Given the description of an element on the screen output the (x, y) to click on. 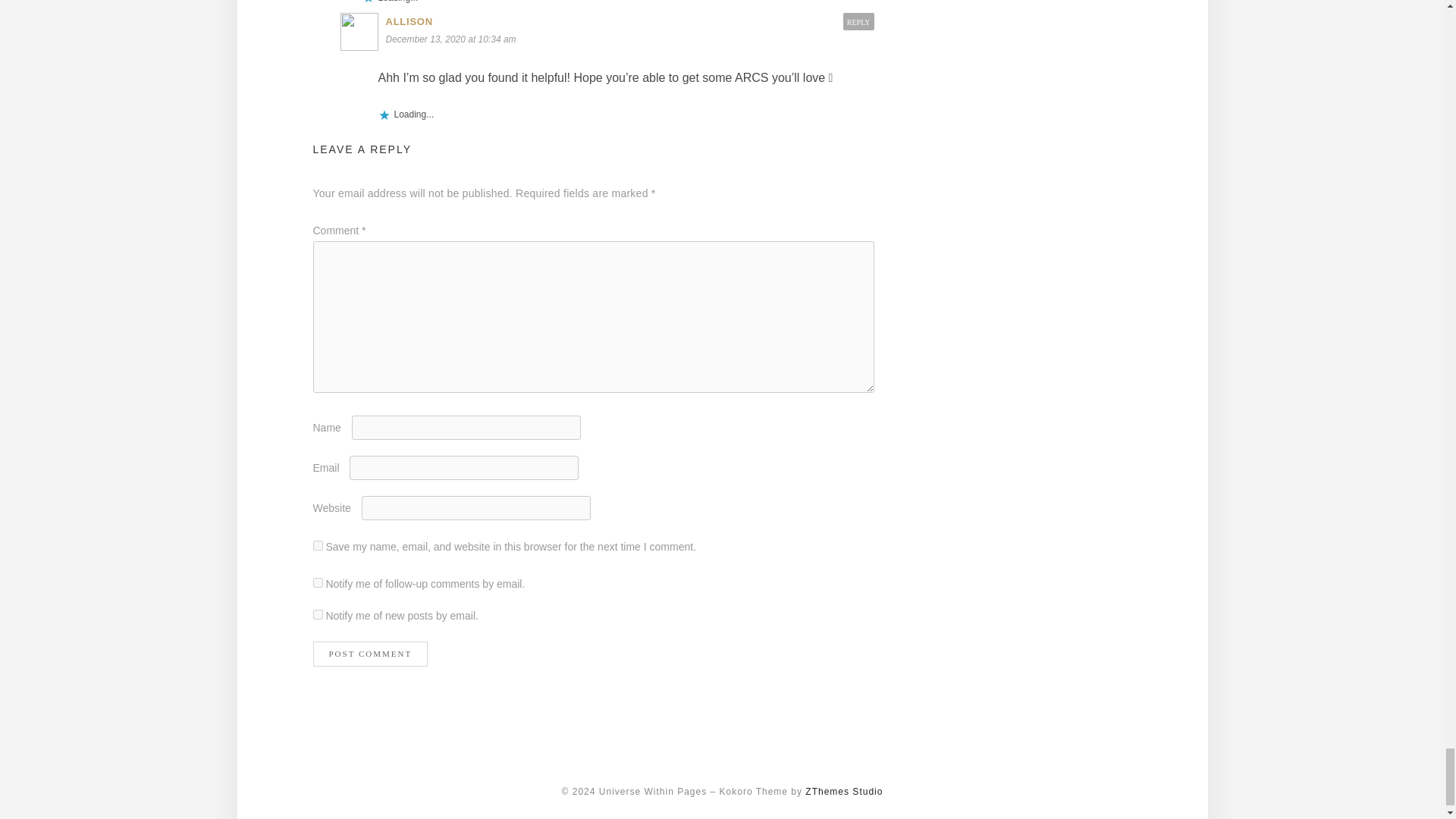
Post Comment (370, 653)
yes (317, 545)
subscribe (317, 614)
subscribe (317, 583)
